Given the description of an element on the screen output the (x, y) to click on. 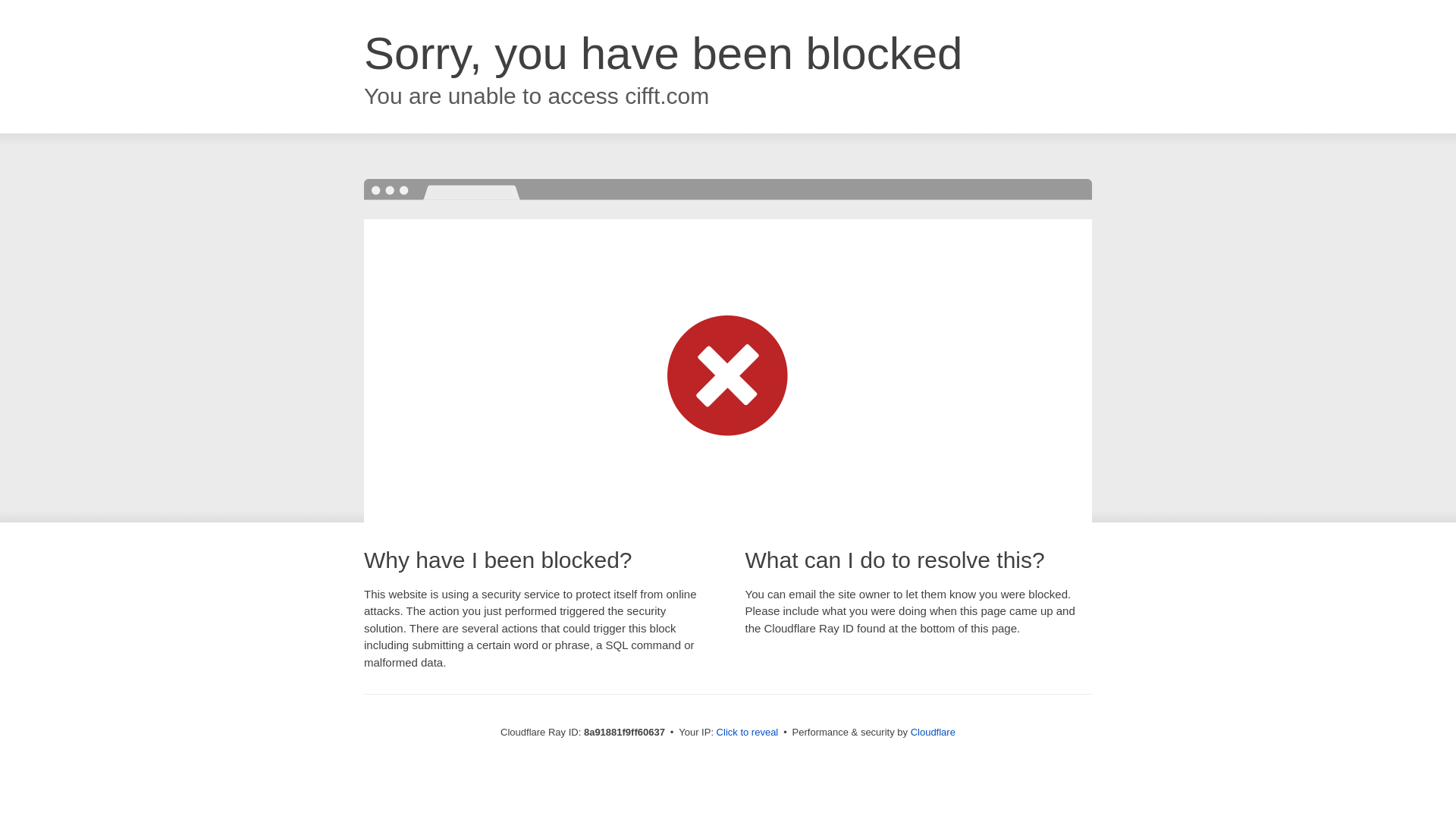
Click to reveal (747, 732)
Cloudflare (933, 731)
